Given the description of an element on the screen output the (x, y) to click on. 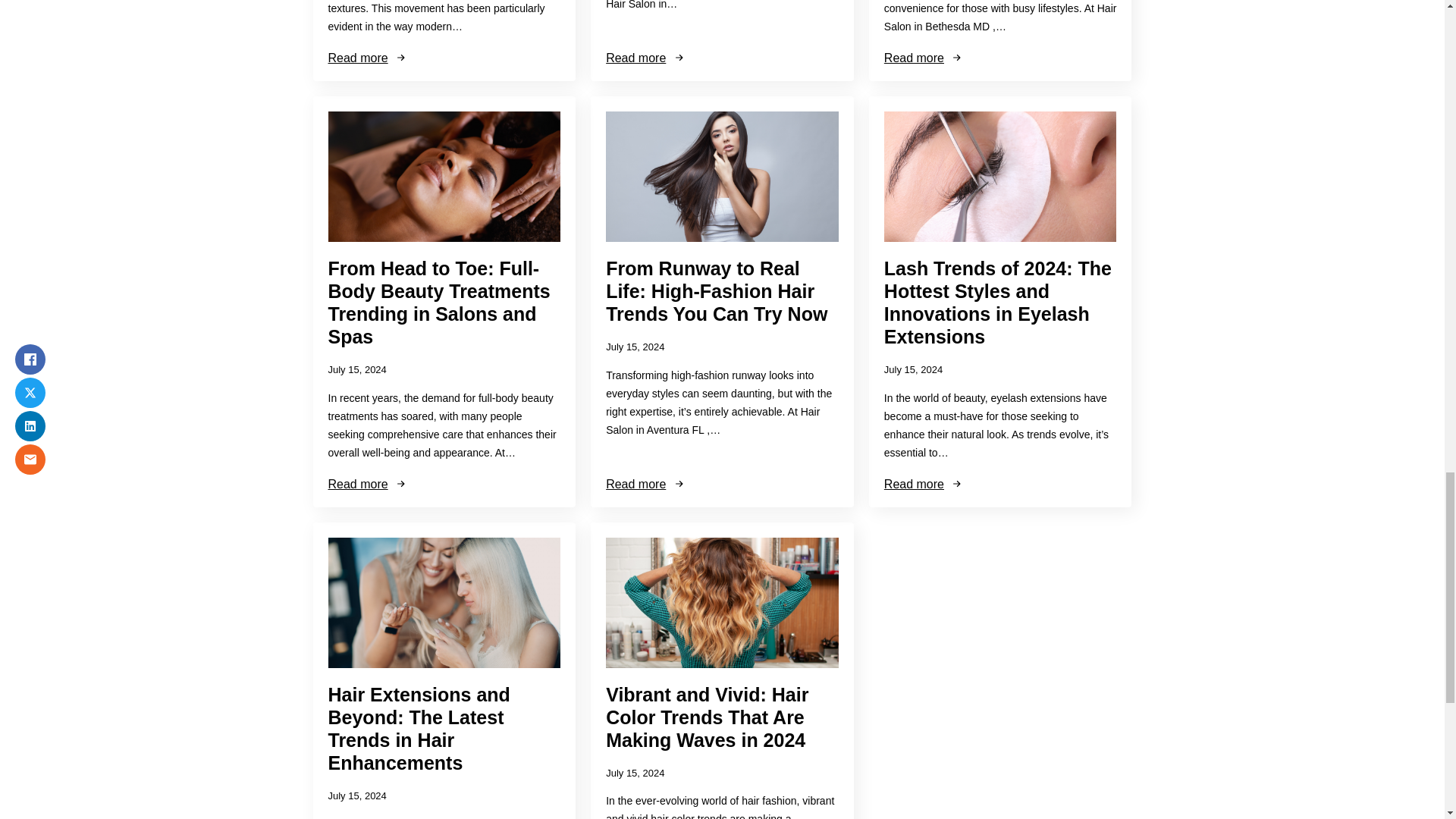
Read more (367, 58)
Read more (367, 484)
Read more (645, 484)
Read more (923, 484)
Read more (923, 58)
Read more (645, 58)
